Given the description of an element on the screen output the (x, y) to click on. 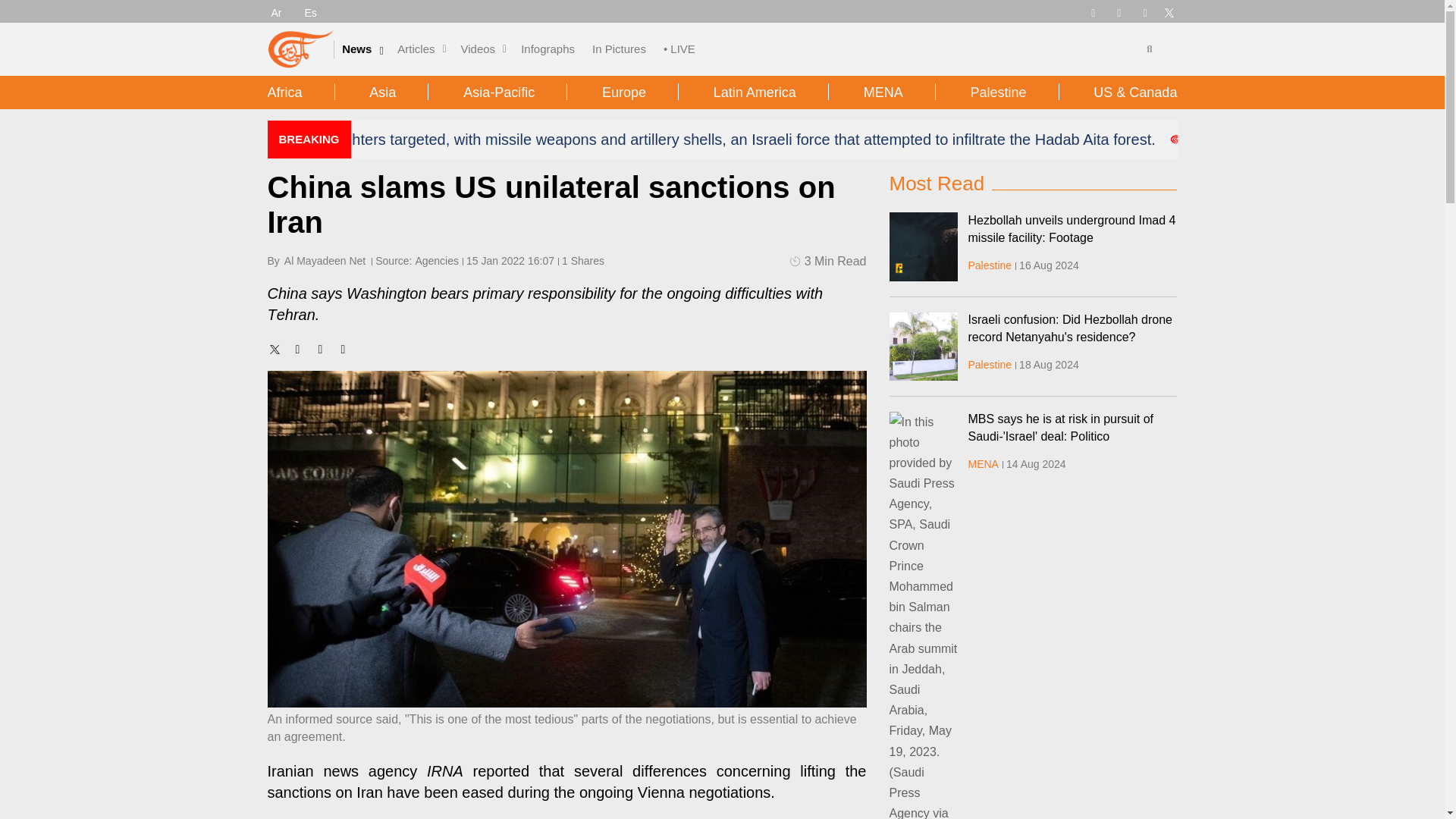
News (356, 48)
Videos (478, 48)
Telegram (1092, 11)
Es (310, 12)
Facebook (1118, 11)
MENA (982, 463)
Instagram (1144, 11)
In Pictures (619, 48)
Infographs (548, 48)
